Given the description of an element on the screen output the (x, y) to click on. 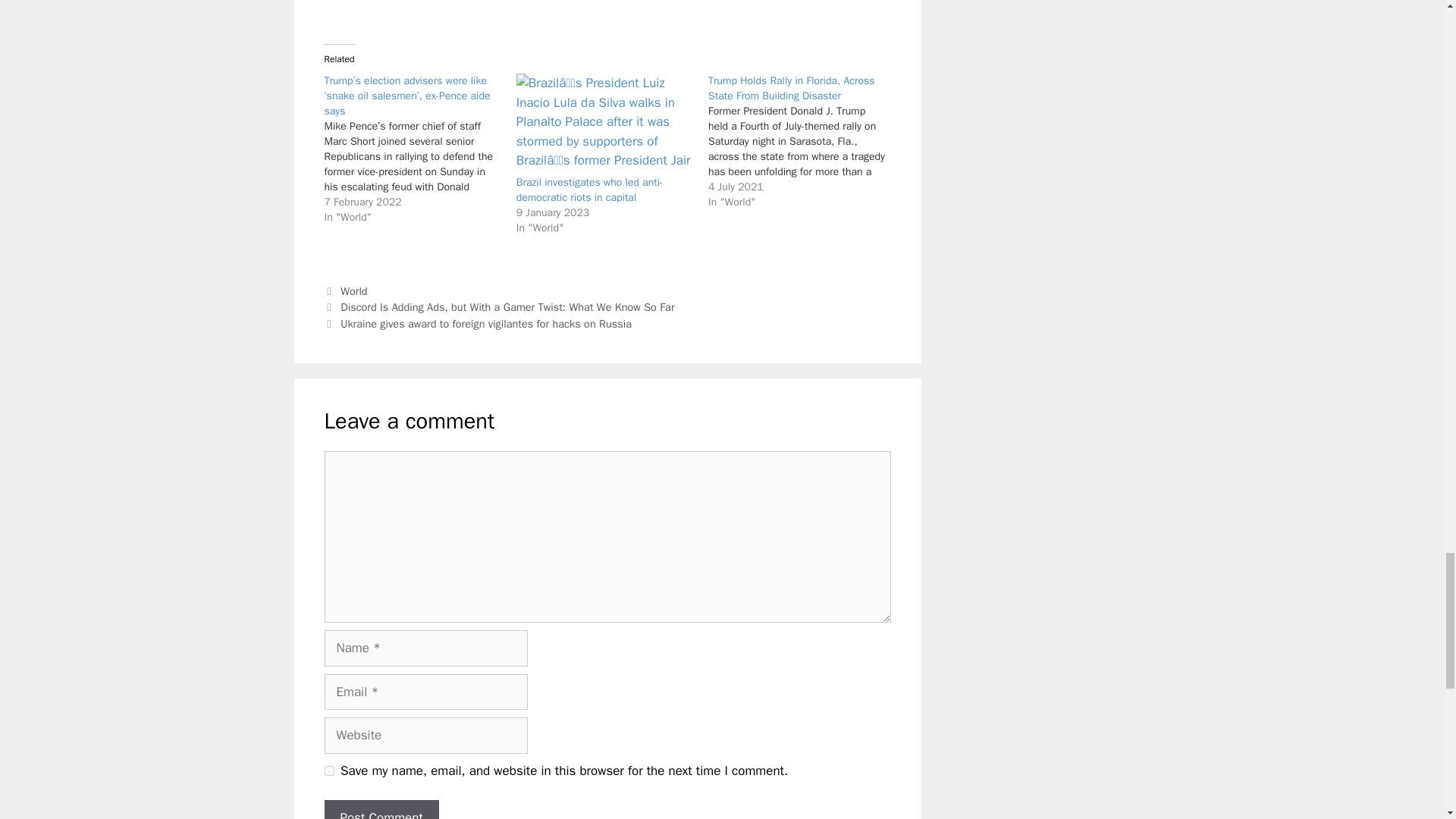
Post Comment (381, 809)
yes (329, 770)
